Given the description of an element on the screen output the (x, y) to click on. 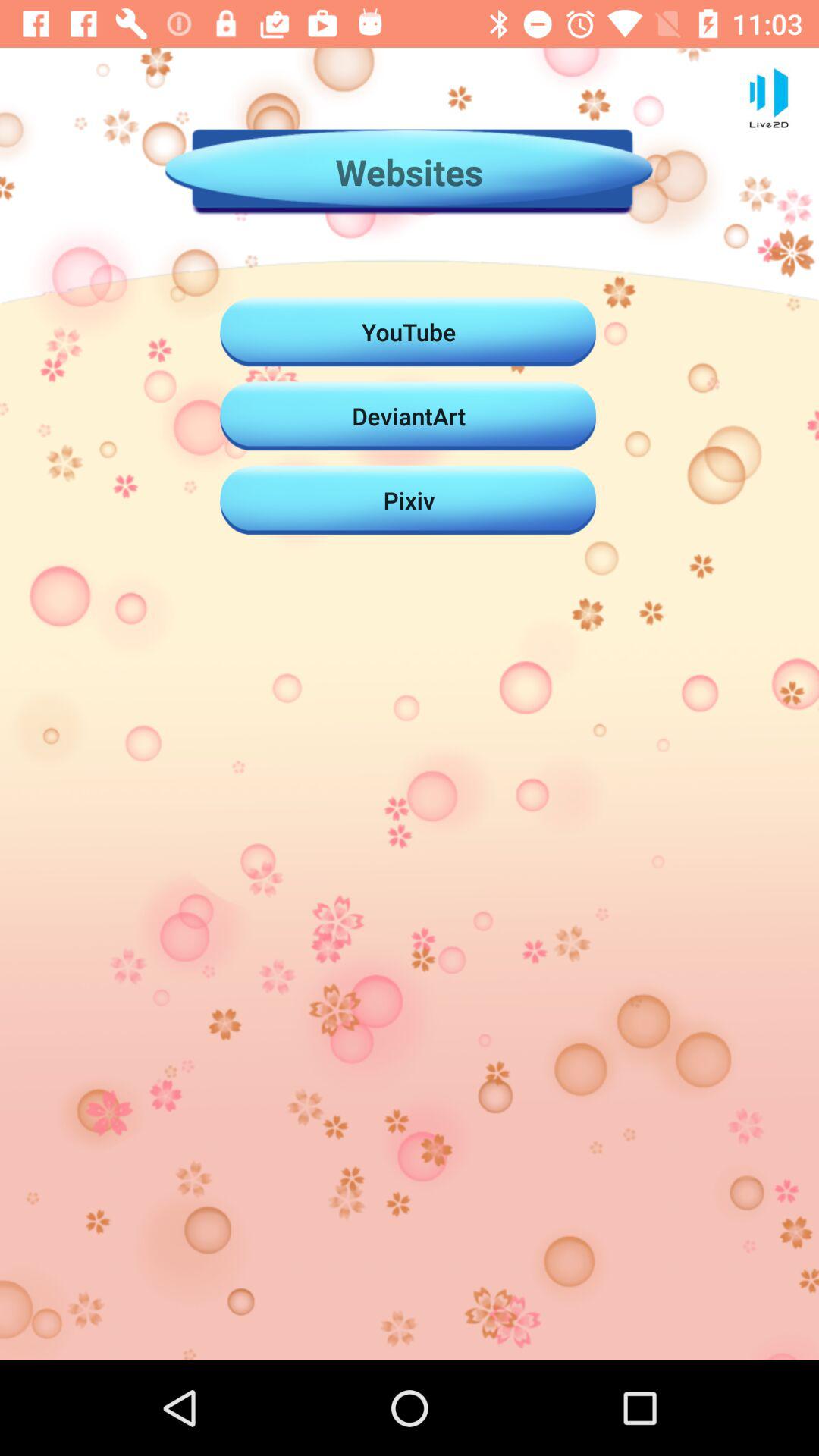
choose the icon below the youtube (409, 416)
